Given the description of an element on the screen output the (x, y) to click on. 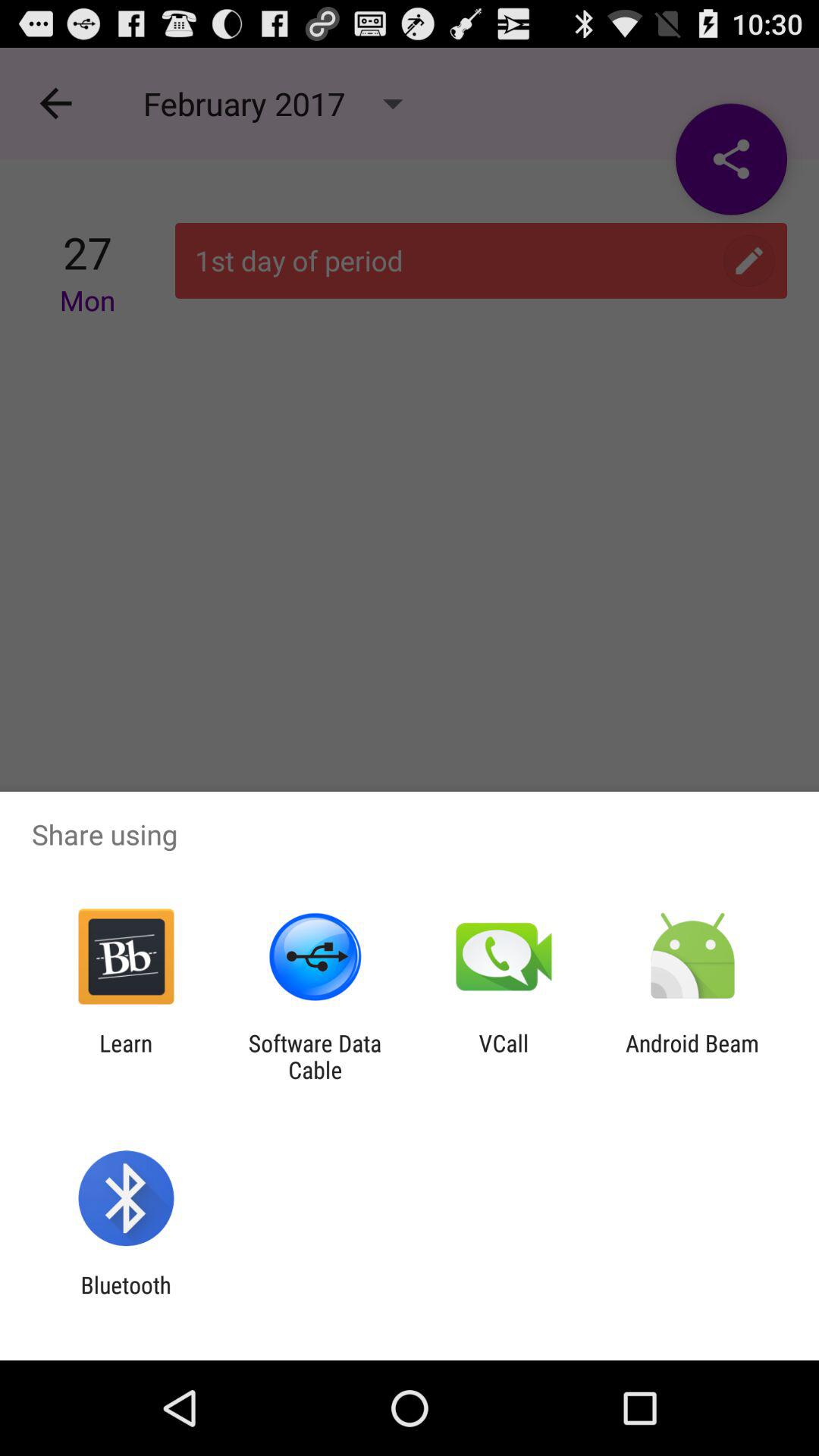
swipe until bluetooth (125, 1298)
